Given the description of an element on the screen output the (x, y) to click on. 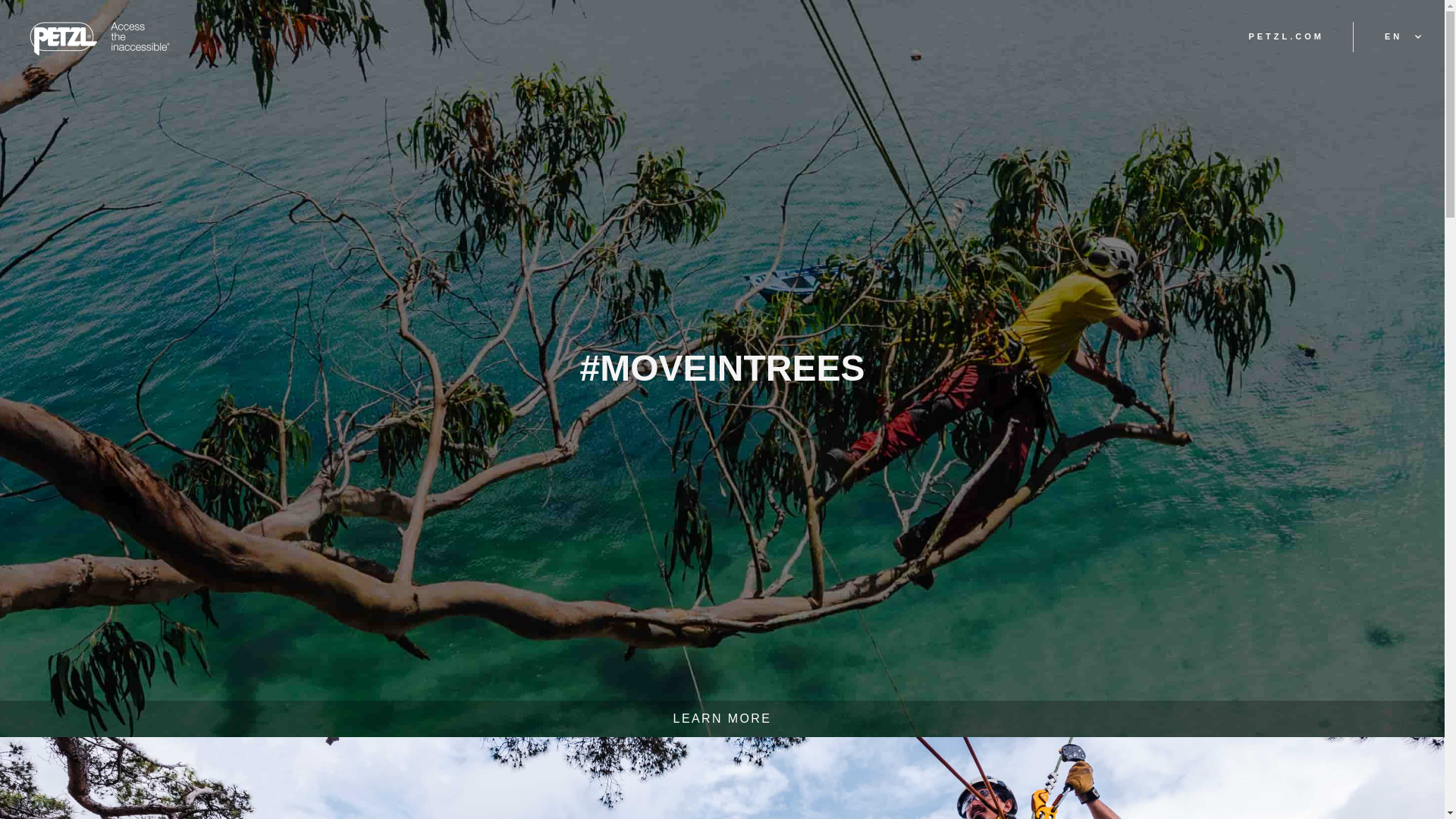
PRODUCT CATALOG (810, 755)
FOLLOW US (998, 755)
PETZL.COM (1285, 35)
SRT SOLUTION (452, 755)
TECH TIPS (624, 755)
